Given the description of an element on the screen output the (x, y) to click on. 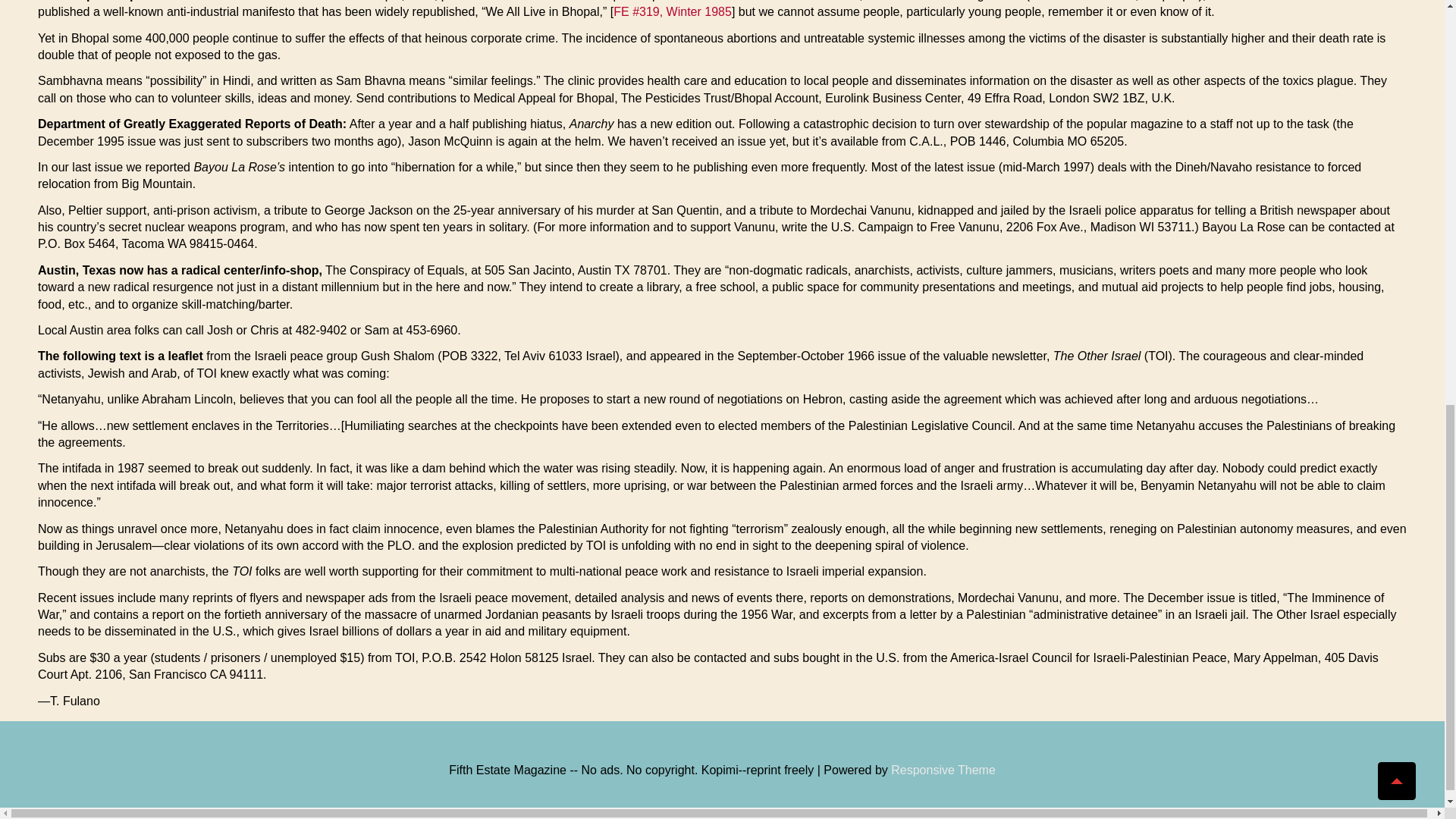
Responsive Theme (943, 769)
